Given the description of an element on the screen output the (x, y) to click on. 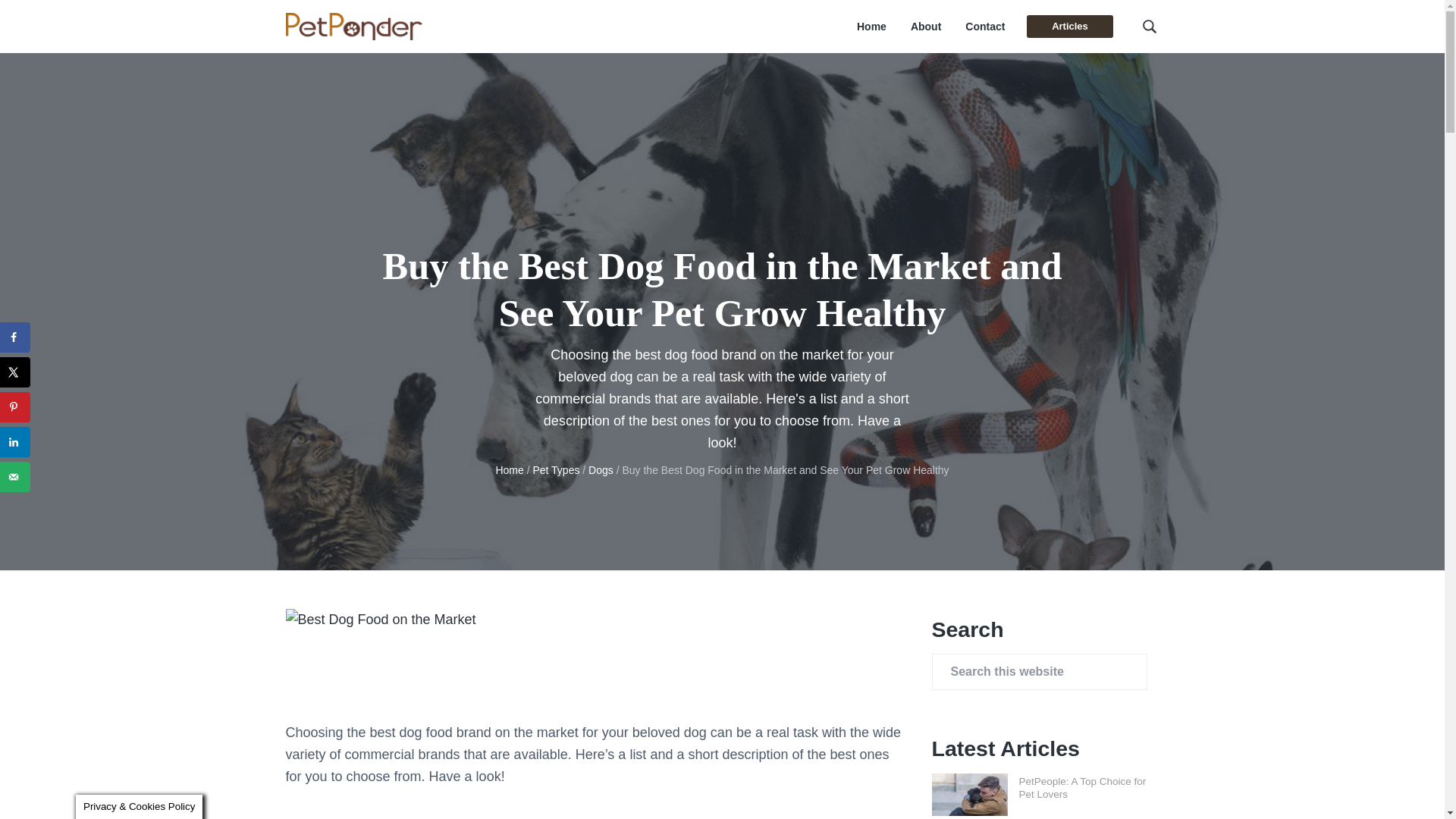
Search (60, 18)
Home (508, 469)
Dogs (600, 469)
Save to Pinterest (15, 407)
Pet Types (555, 469)
Articles (1068, 25)
Share on X (15, 372)
Share on Facebook (15, 337)
About (925, 27)
Contact (984, 27)
Home (871, 27)
